Given the description of an element on the screen output the (x, y) to click on. 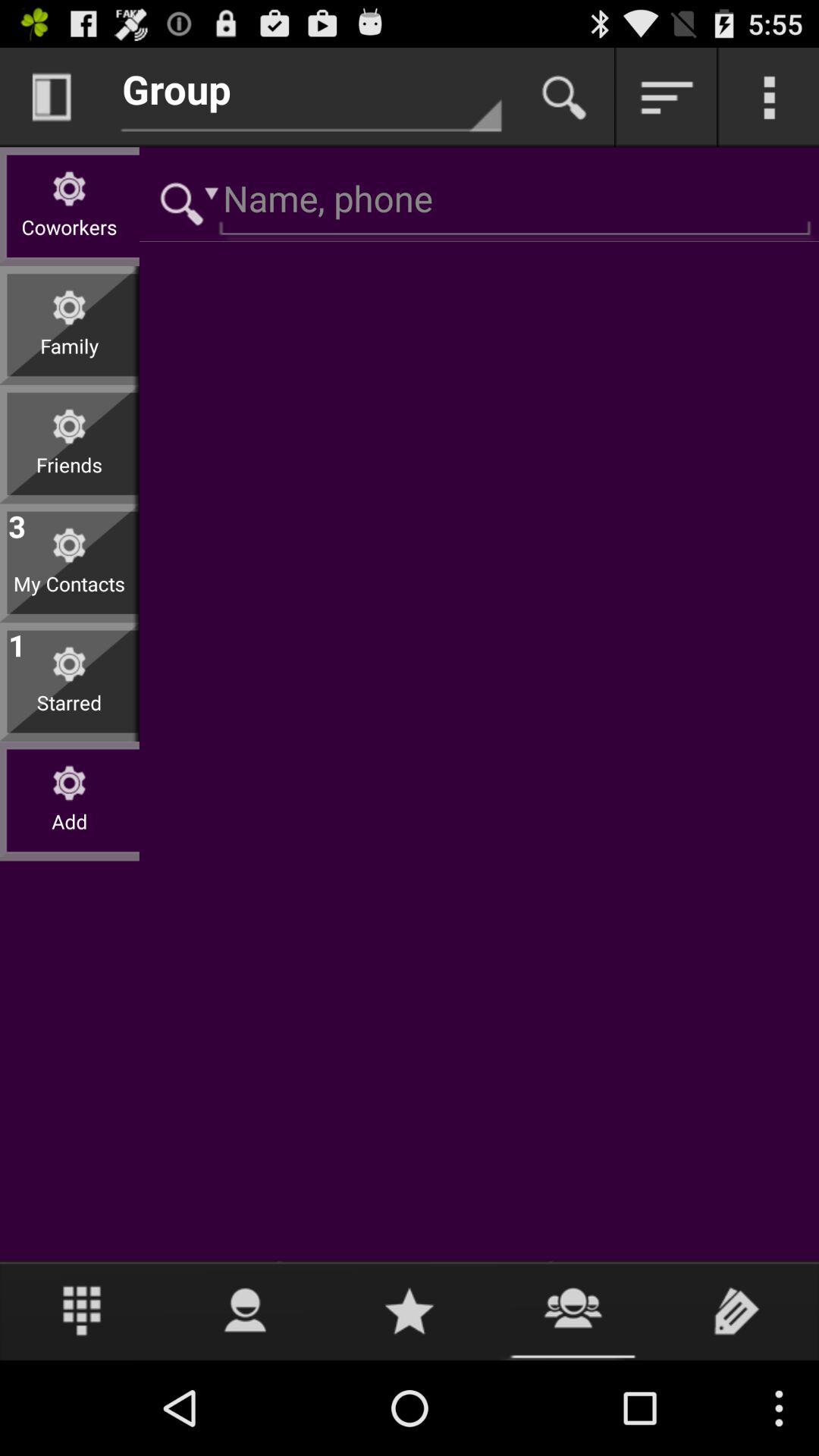
find contact (573, 1310)
